Given the description of an element on the screen output the (x, y) to click on. 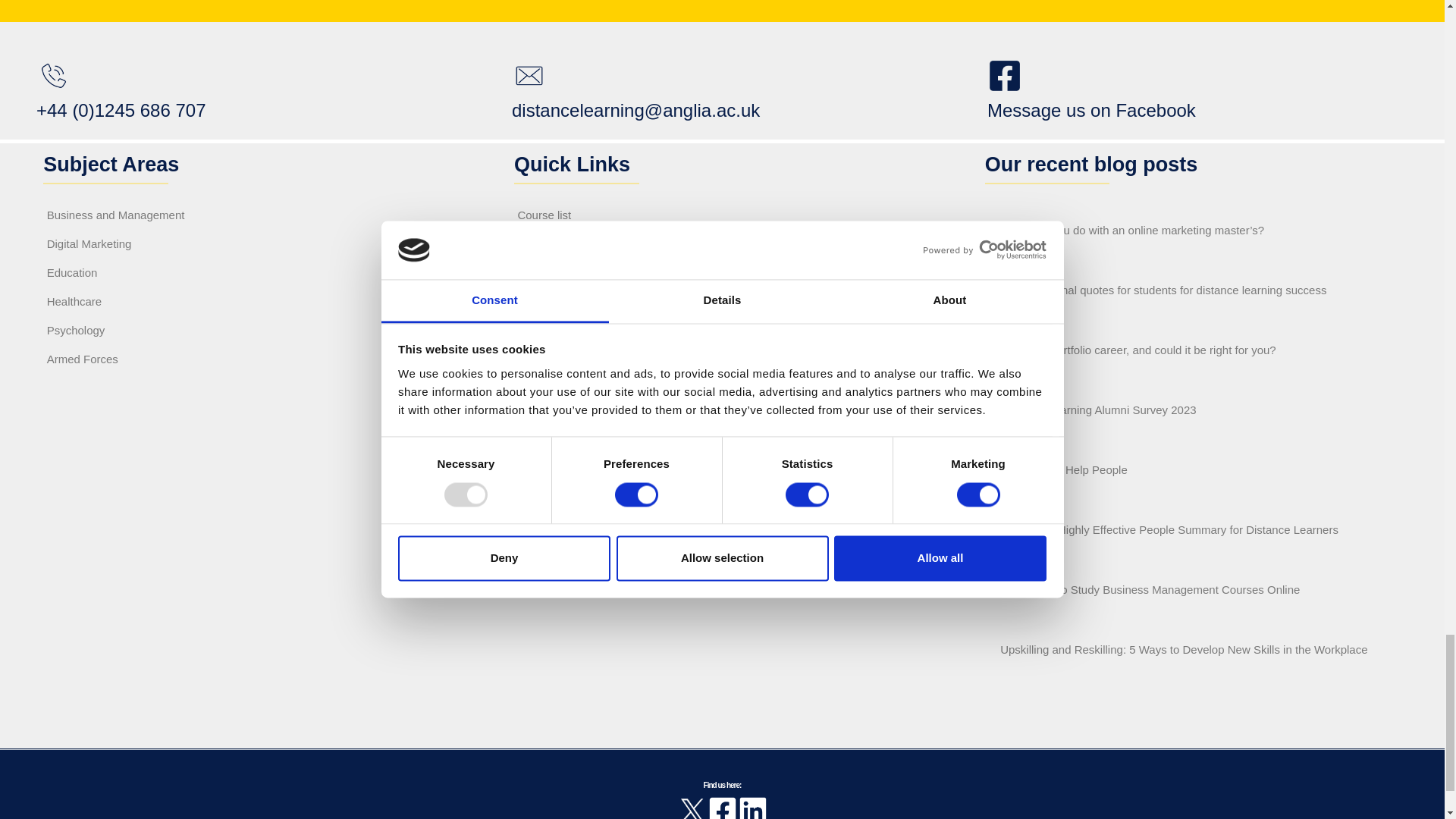
Find us on Facebook - opens in a new window (1091, 93)
